Given the description of an element on the screen output the (x, y) to click on. 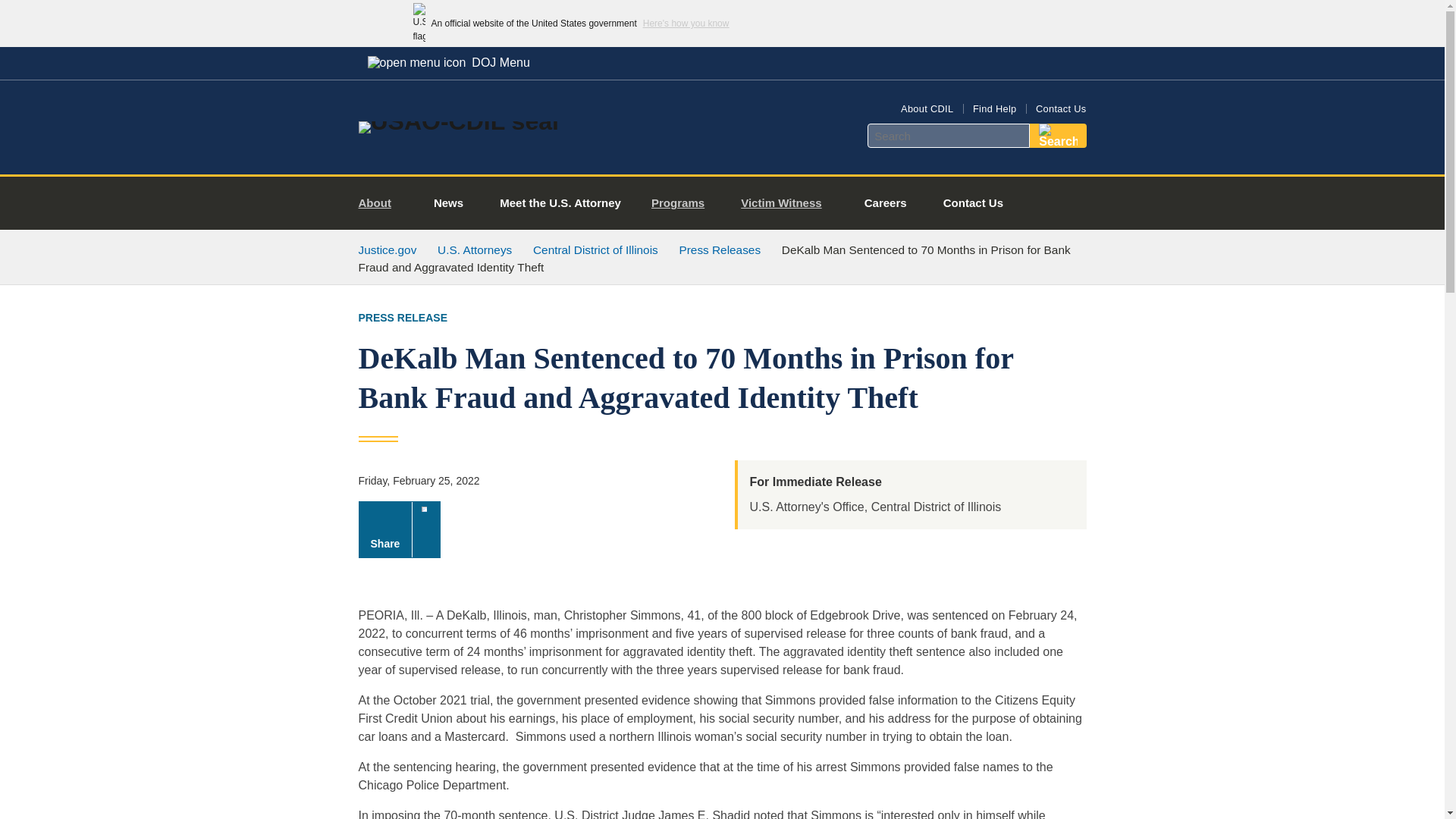
About CDIL (927, 108)
About (380, 203)
Here's how you know (686, 23)
U.S. Attorneys (475, 249)
Victim Witness (787, 203)
Share (398, 529)
Contact Us (1060, 108)
Central District of Illinois (595, 249)
DOJ Menu (448, 62)
Justice.gov (387, 249)
Find Help (994, 108)
Press Releases (720, 249)
News (447, 203)
Contact Us (973, 203)
Careers (884, 203)
